Given the description of an element on the screen output the (x, y) to click on. 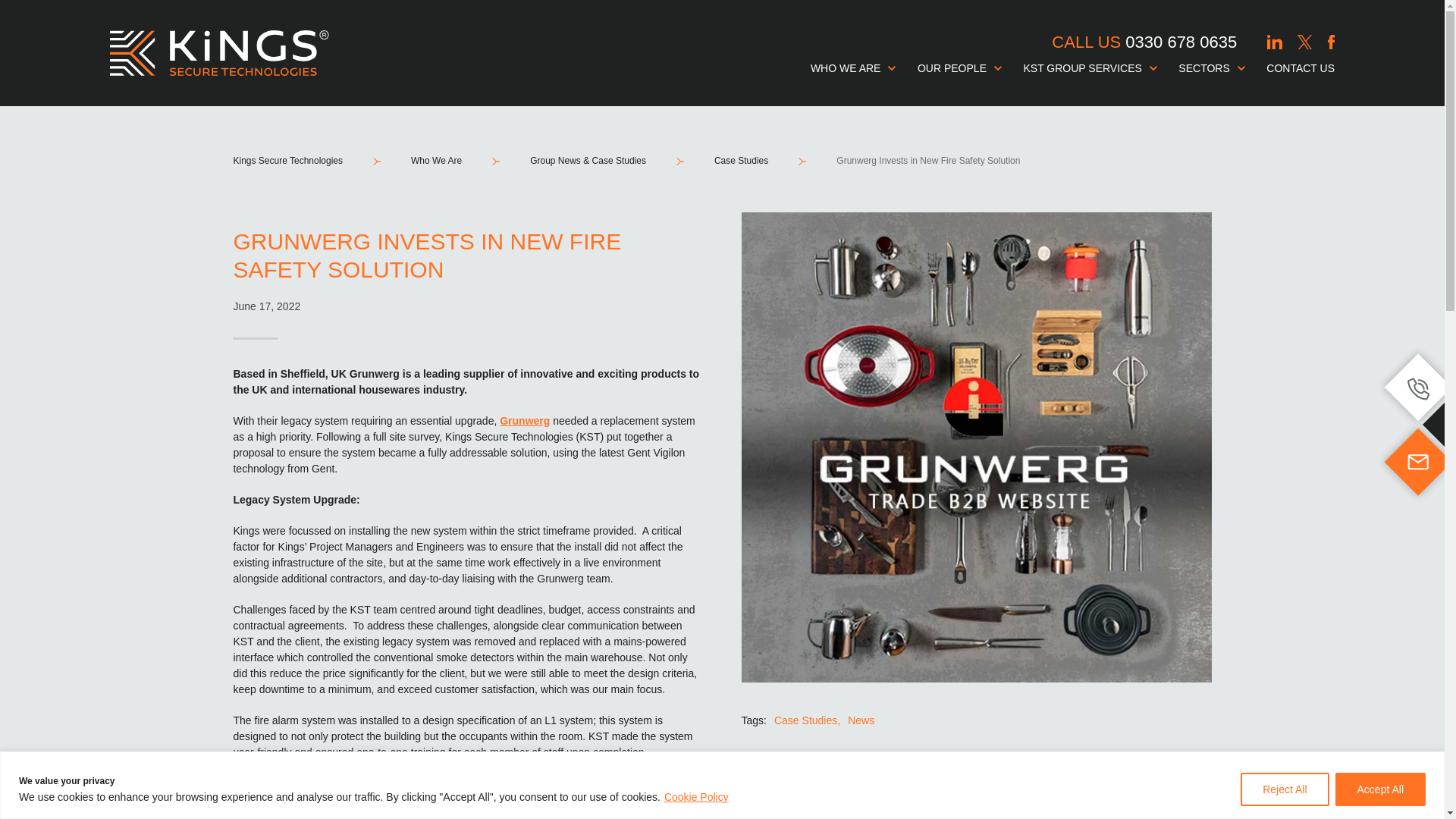
Accept All (1380, 788)
Go to the Case Studies Tag archives. (740, 160)
OUR PEOPLE (963, 68)
KST GROUP SERVICES (1093, 68)
Go to Kings Secure Technologies. (302, 160)
Go to Who We Are. (436, 160)
WHO WE ARE (856, 68)
Cookie Policy (696, 796)
CALL US 0330 678 0635 (1143, 41)
Reject All (1283, 788)
